Given the description of an element on the screen output the (x, y) to click on. 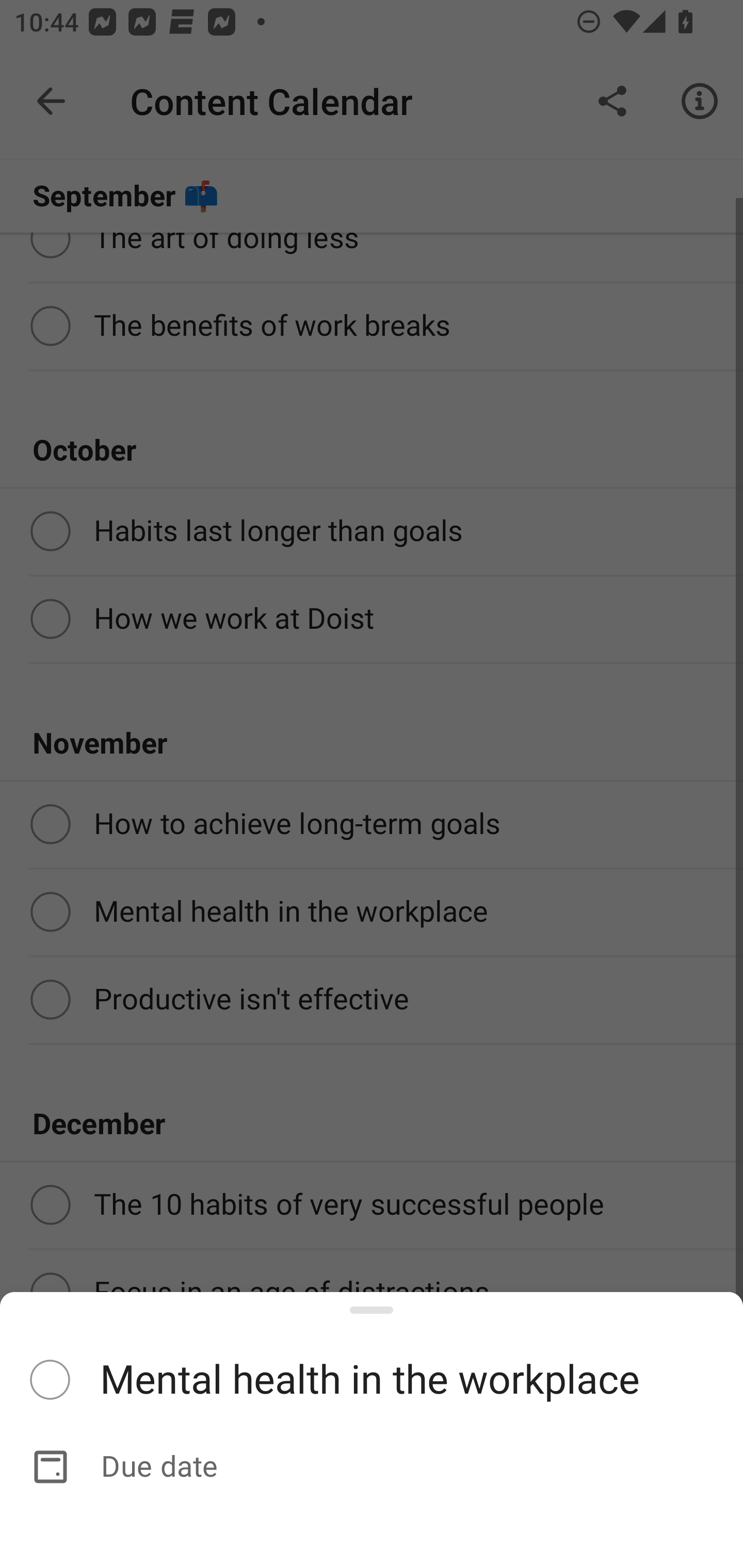
Date Due date (371, 1466)
